Given the description of an element on the screen output the (x, y) to click on. 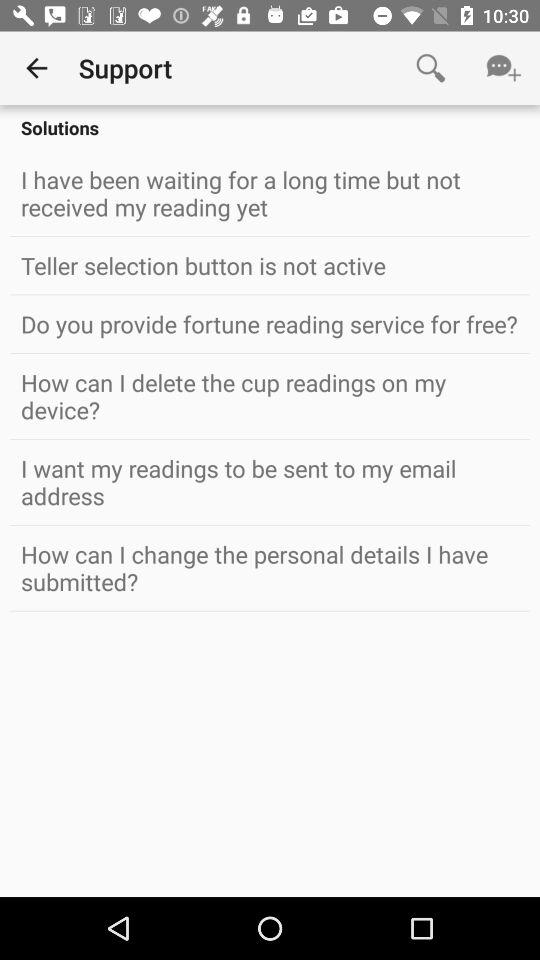
flip to teller selection button (269, 265)
